Given the description of an element on the screen output the (x, y) to click on. 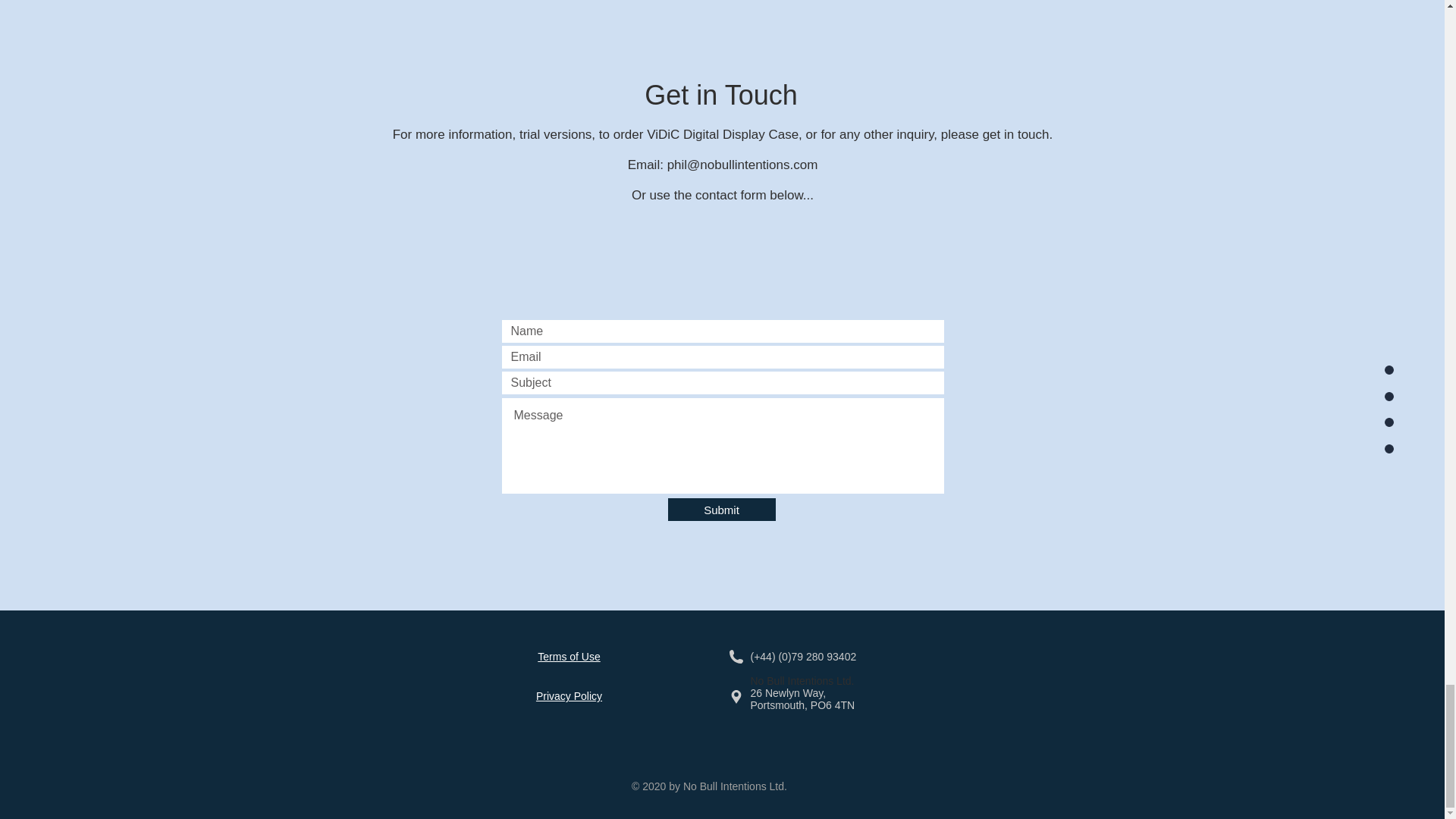
Privacy Policy (568, 695)
Terms of Use (568, 656)
Submit (720, 508)
